Given the description of an element on the screen output the (x, y) to click on. 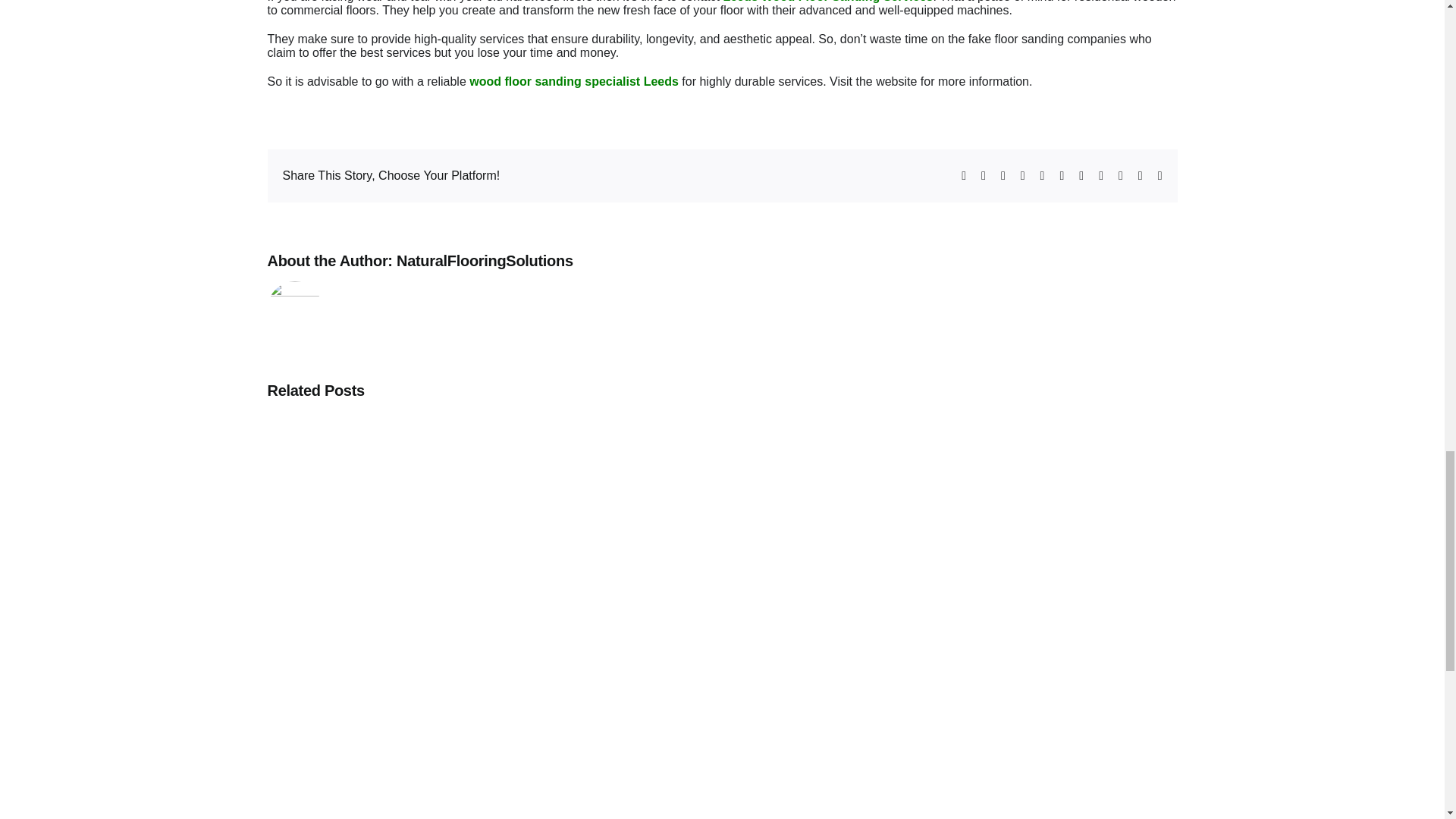
Posts by NaturalFlooringSolutions (484, 260)
wood floor sanding specialist Leeds (573, 81)
Leeds Wood Floor Sanding Services (827, 1)
